Given the description of an element on the screen output the (x, y) to click on. 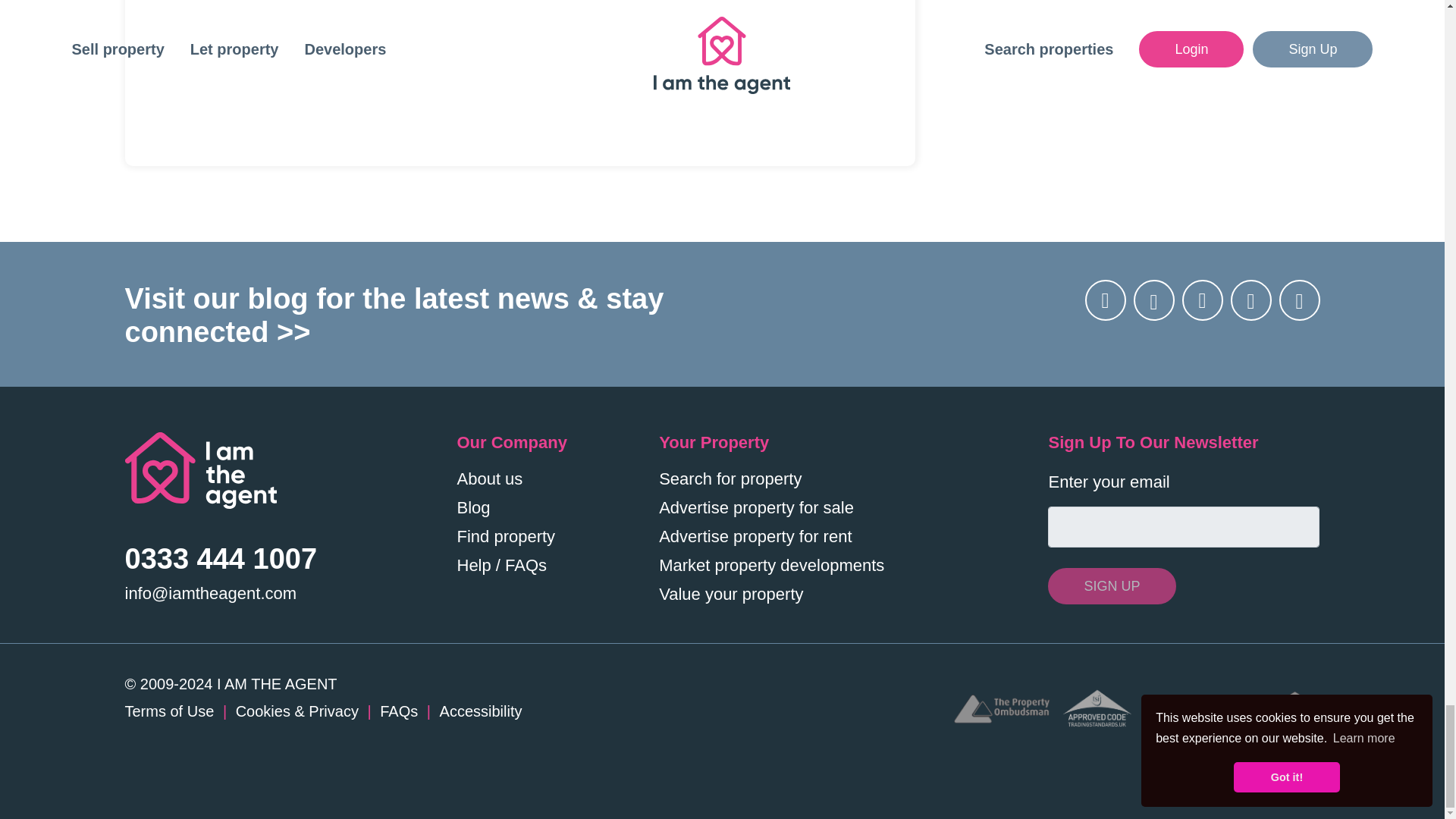
Find property (505, 536)
Blog (473, 506)
About us (489, 478)
